Given the description of an element on the screen output the (x, y) to click on. 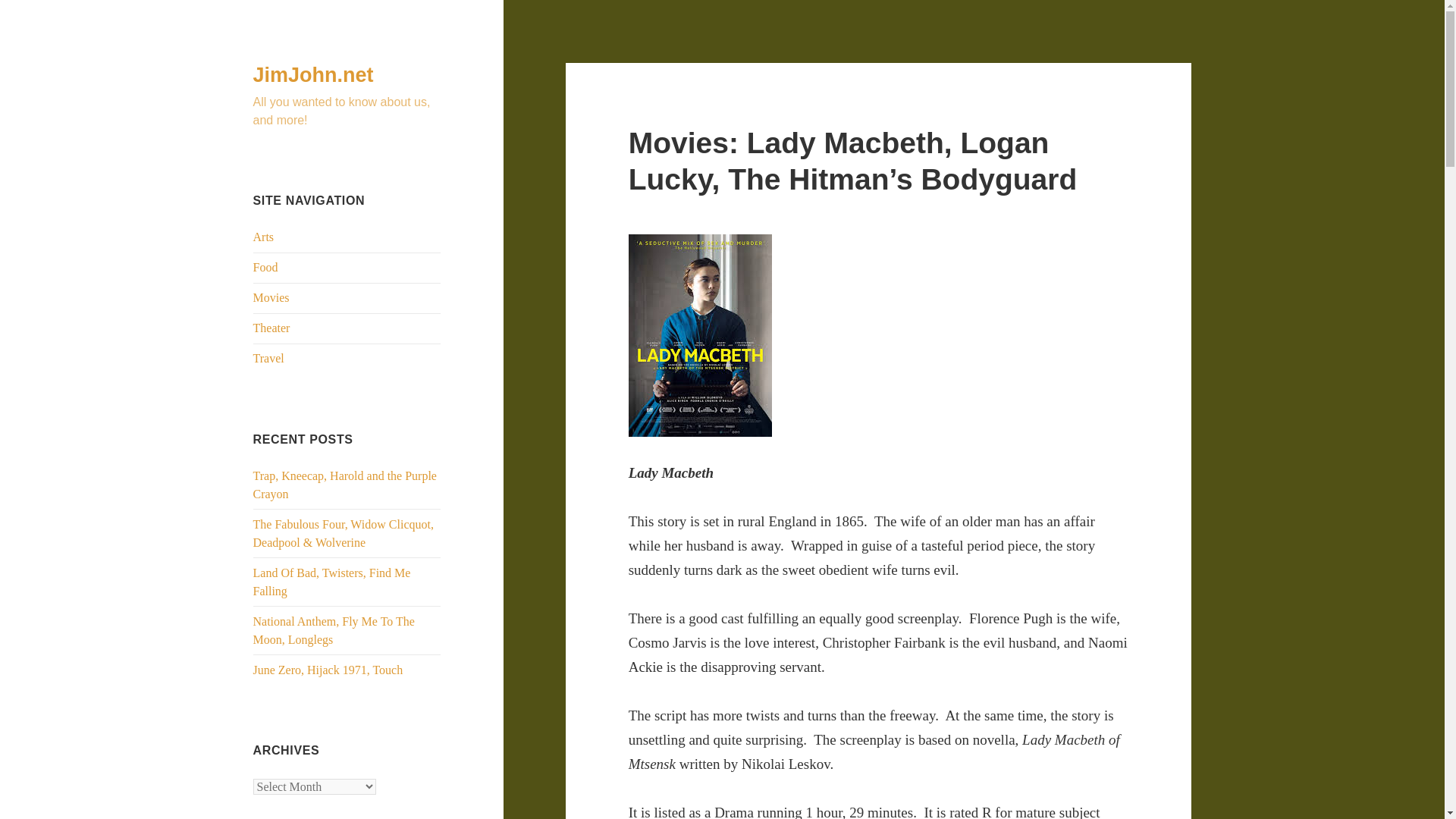
JimJohn.net (313, 74)
Trap, Kneecap, Harold and the Purple Crayon (344, 484)
Theater (271, 327)
Movies (271, 297)
National Anthem, Fly Me To The Moon, Longlegs (333, 630)
Land Of Bad, Twisters, Find Me Falling (331, 581)
Food (265, 267)
Travel (268, 358)
June Zero, Hijack 1971, Touch (328, 669)
Arts (264, 236)
